Given the description of an element on the screen output the (x, y) to click on. 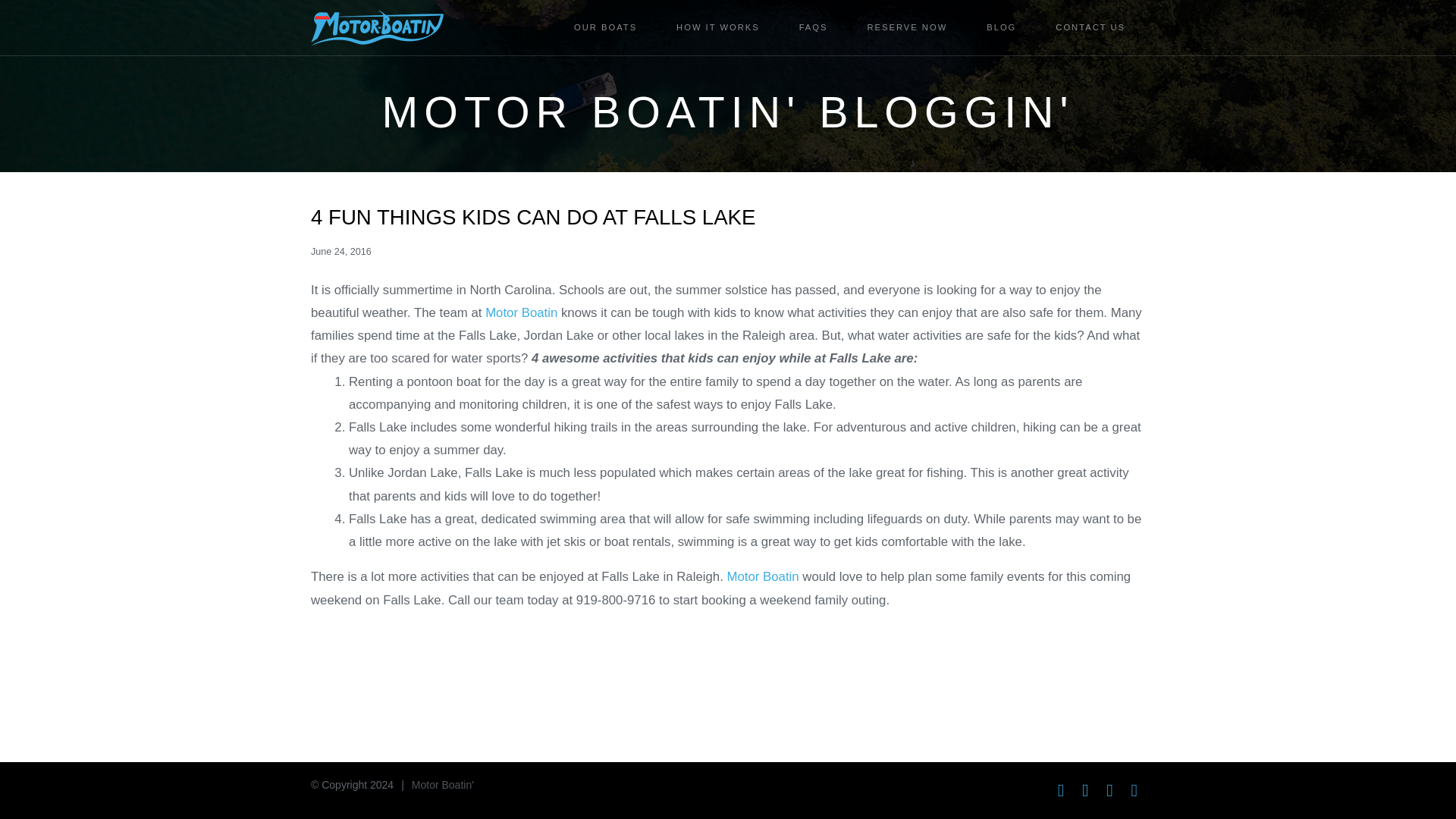
Motor Boatin (520, 312)
CONTACT US (1089, 27)
RESERVE NOW (907, 27)
Motor Boatin' (443, 784)
FAQS (812, 27)
BLOG (1000, 27)
HOW IT WORKS (717, 27)
Motor Boatin (761, 576)
OUR BOATS (605, 27)
